Given the description of an element on the screen output the (x, y) to click on. 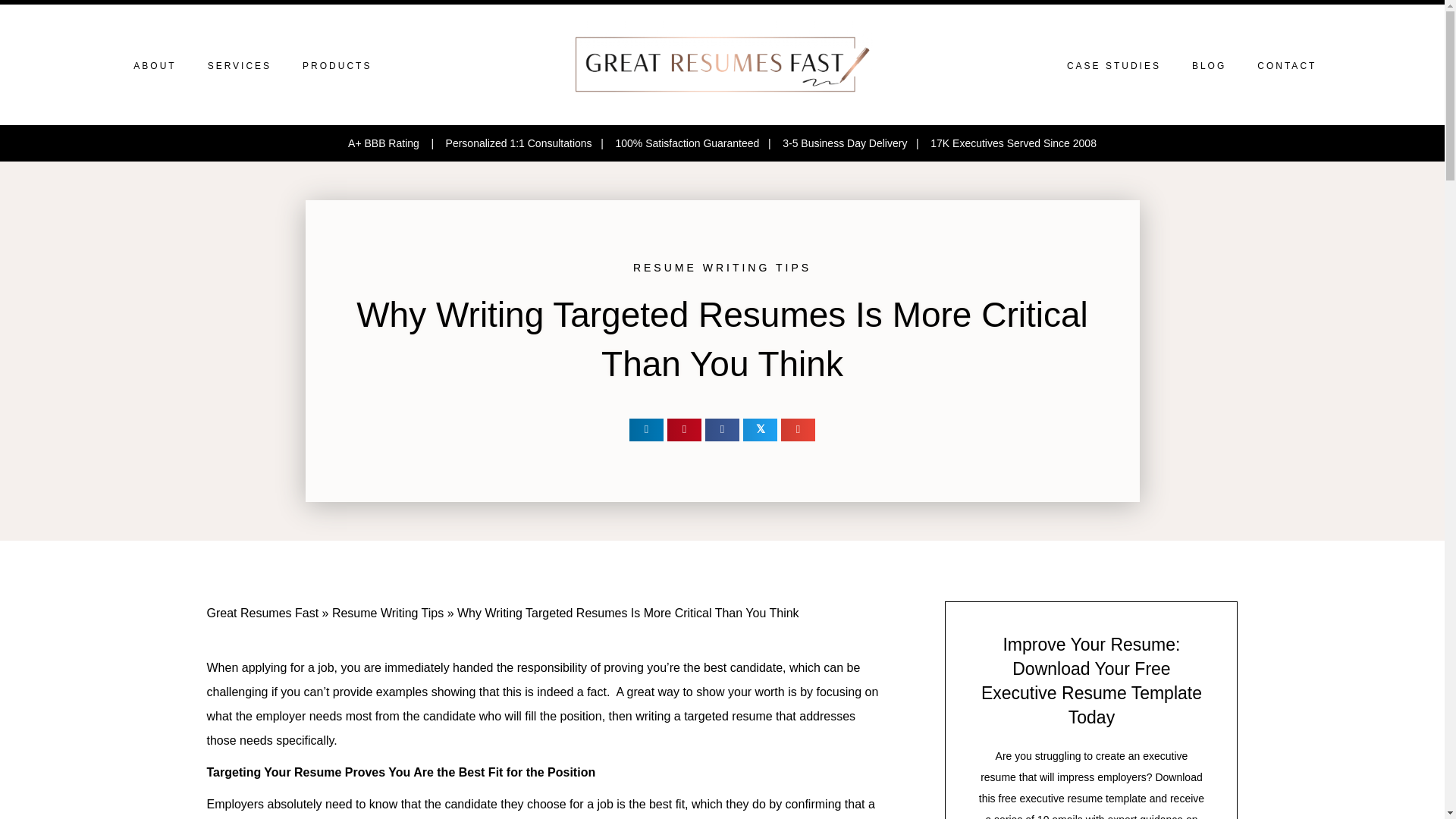
ABOUT (153, 65)
PRODUCTS (336, 65)
CONTACT (1286, 65)
BLOG (1208, 65)
Resume Writing Tips (387, 612)
Great Resumes Fast (262, 612)
CASE STUDIES (1113, 65)
Great Resumes Fast resume writing service (721, 63)
RESUME WRITING TIPS (721, 267)
SERVICES (239, 65)
